Given the description of an element on the screen output the (x, y) to click on. 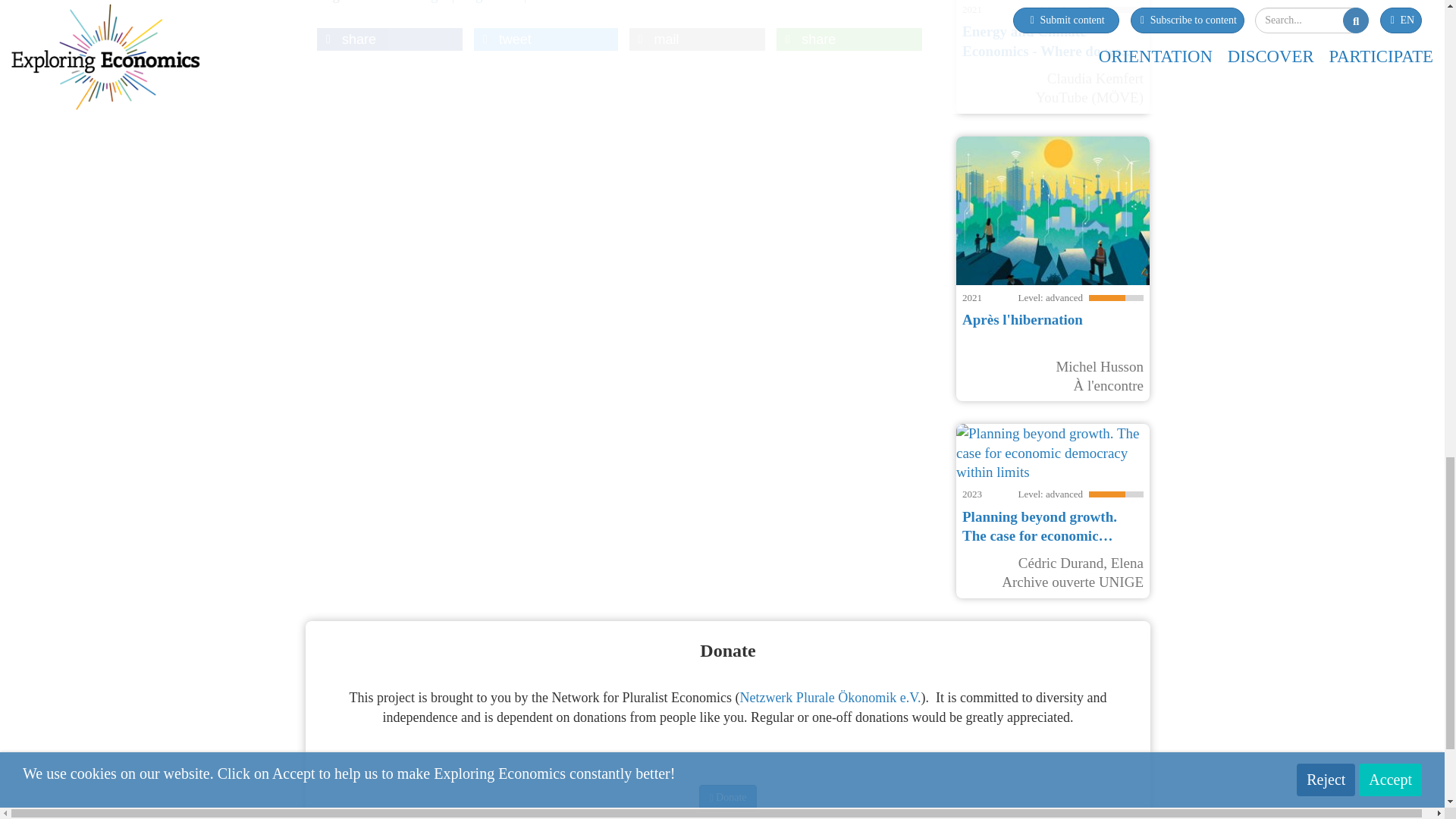
Share on Whatsapp (848, 38)
share (390, 38)
Send by email (696, 38)
Share on Facebook (390, 38)
Green New Deal (582, 1)
tweet (545, 38)
Share on Twitter (545, 38)
climate change (400, 1)
mail (696, 38)
degrowth (488, 1)
